Given the description of an element on the screen output the (x, y) to click on. 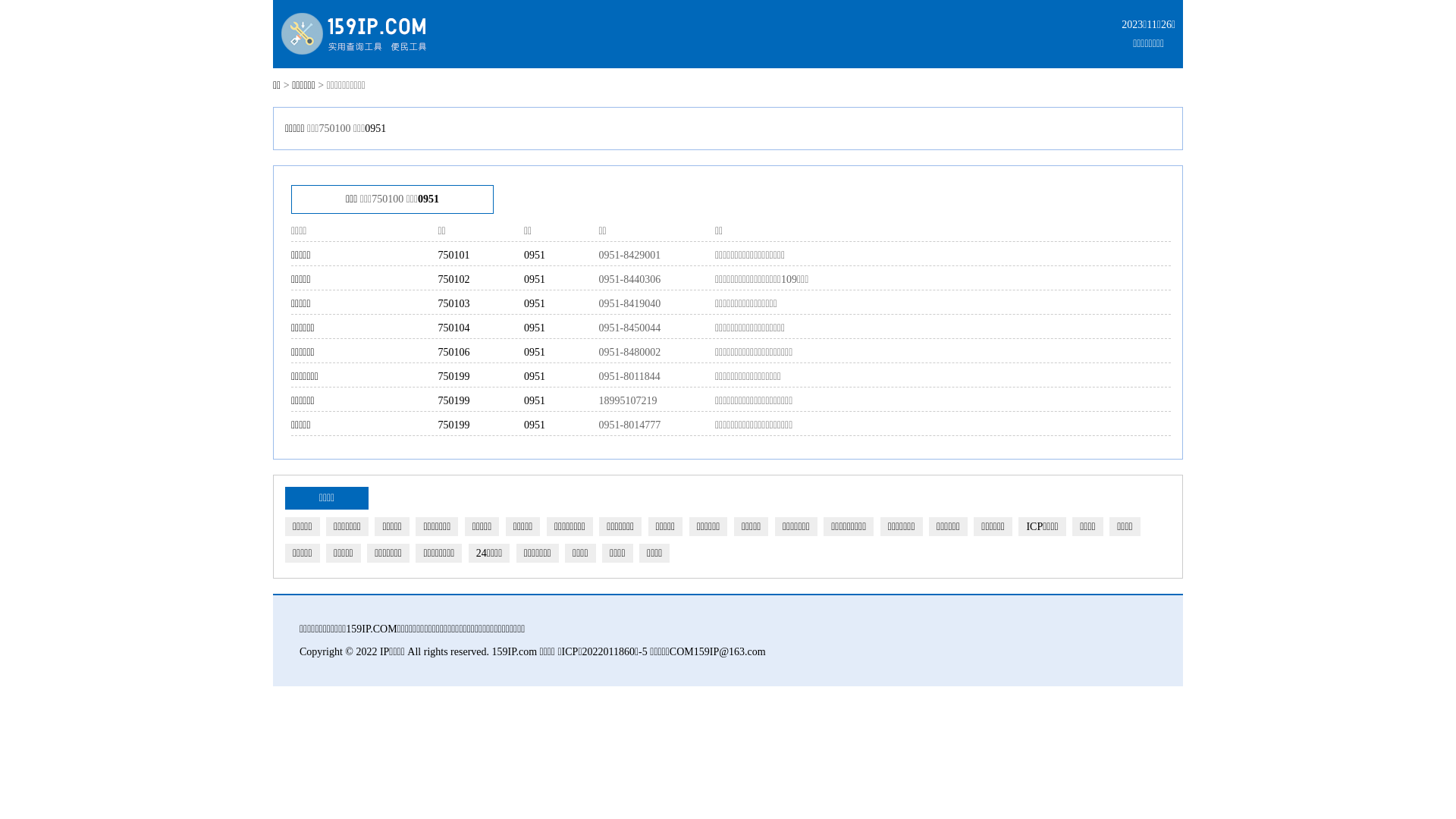
0951 Element type: text (534, 376)
0951 Element type: text (534, 400)
750199 Element type: text (454, 424)
750104 Element type: text (454, 327)
0951 Element type: text (534, 279)
750199 Element type: text (454, 376)
0951 Element type: text (534, 327)
750199 Element type: text (454, 400)
0951 Element type: text (534, 254)
750101 Element type: text (454, 254)
0951 Element type: text (428, 198)
0951 Element type: text (534, 424)
750102 Element type: text (454, 279)
750103 Element type: text (454, 303)
0951 Element type: text (534, 303)
750106 Element type: text (454, 351)
0951 Element type: text (374, 128)
0951 Element type: text (534, 351)
